Given the description of an element on the screen output the (x, y) to click on. 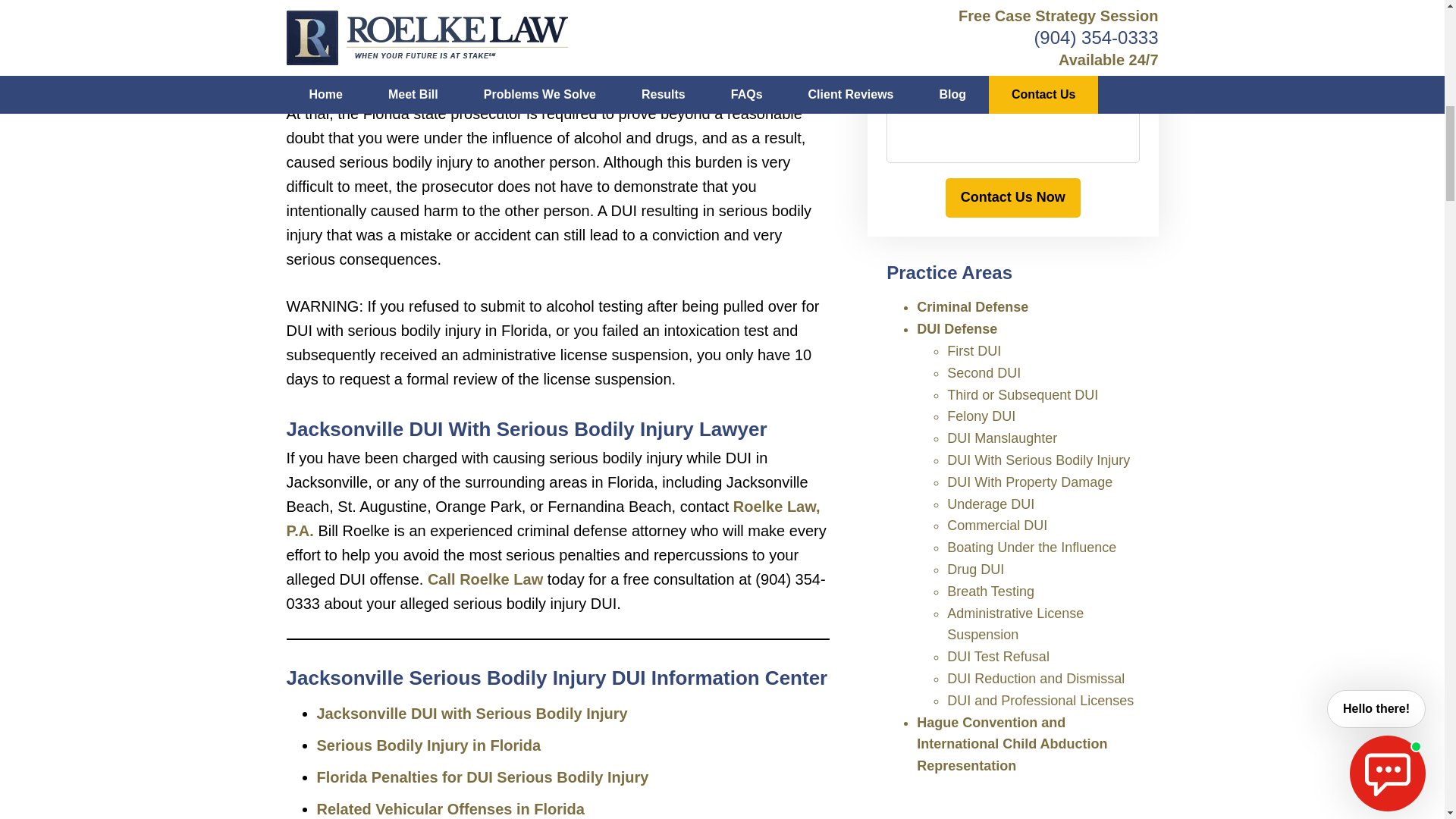
Florida Penalties for DUI Serious Bodily Injury (483, 777)
Roelke Law, P.A. (553, 517)
Call Roelke Law (485, 579)
Serious Bodily Injury in Florida (429, 745)
Related Vehicular Offenses in Florida (451, 808)
Jacksonville DUI with Serious Bodily Injury (472, 713)
Contact Us Now (1012, 197)
